Given the description of an element on the screen output the (x, y) to click on. 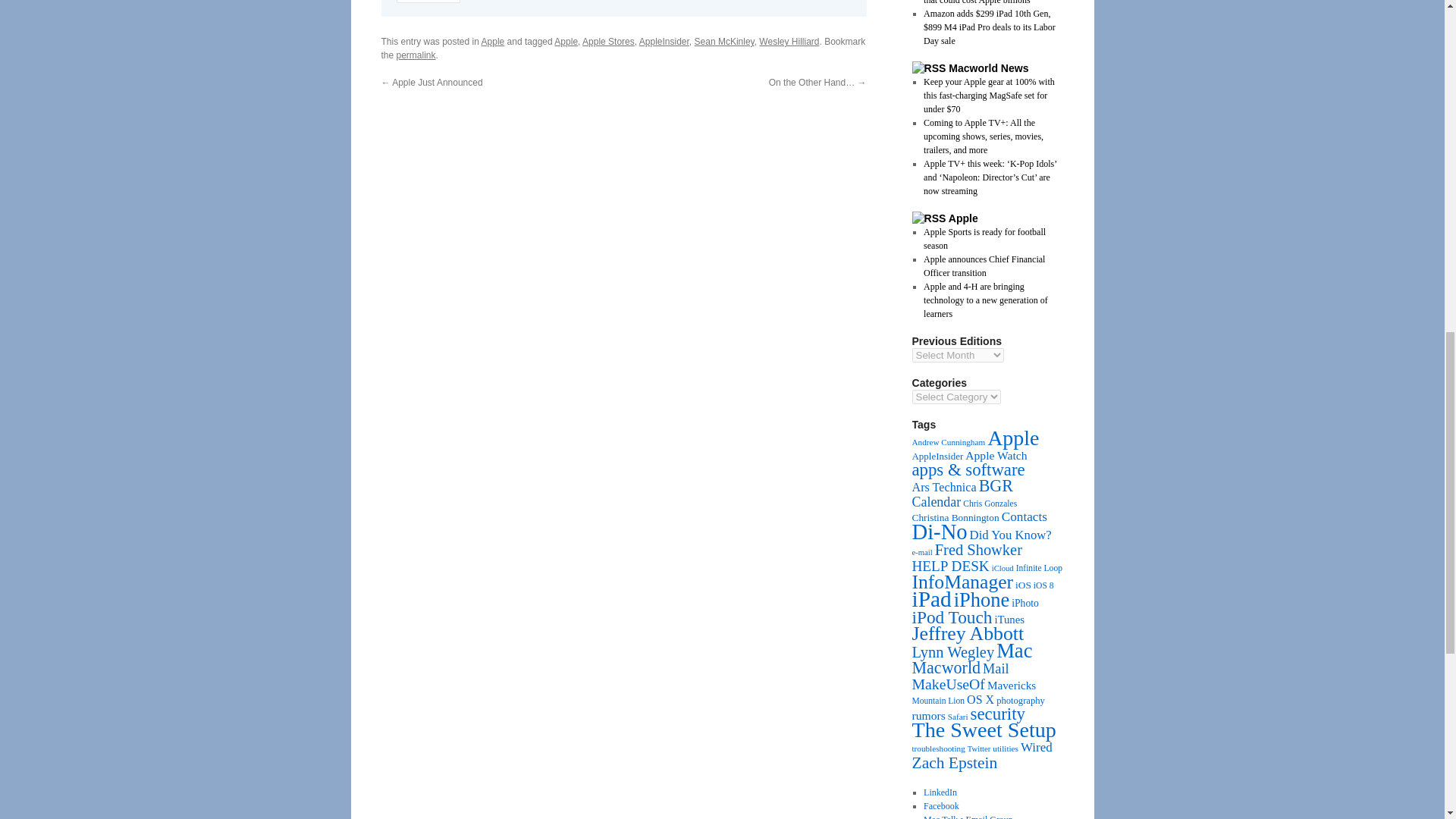
Apple (566, 41)
Apple Stores (608, 41)
permalink (415, 54)
Sean McKinley (724, 41)
Apple (493, 41)
Permalink to Did You Know? (415, 54)
Wesley Hilliard (788, 41)
AppleInsider (663, 41)
Group Link (939, 792)
